Given the description of an element on the screen output the (x, y) to click on. 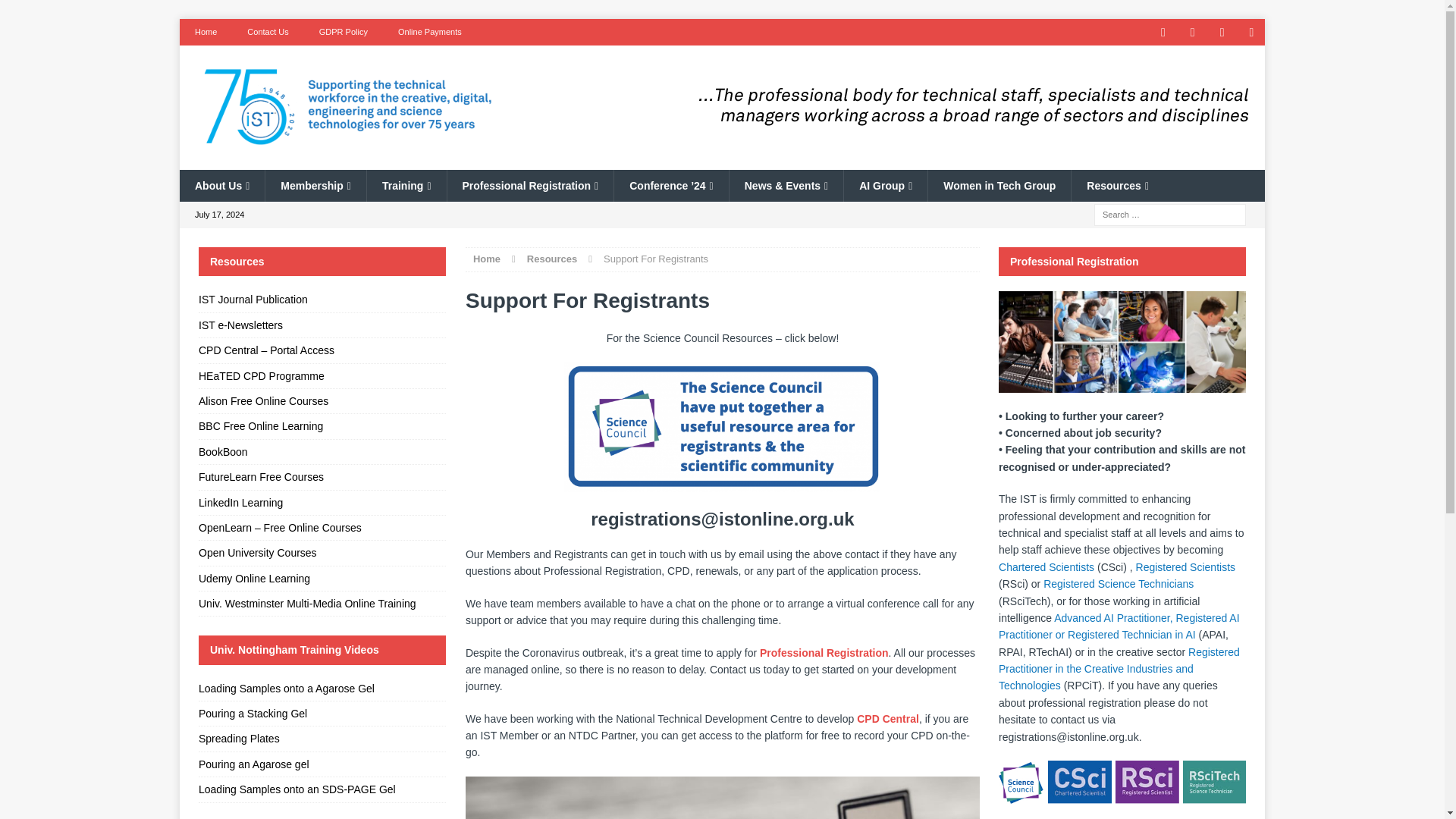
Online Payments (429, 31)
GDPR Policy (343, 31)
Home (205, 31)
Home (205, 31)
Contact Us (266, 31)
Contact Us (266, 31)
